Given the description of an element on the screen output the (x, y) to click on. 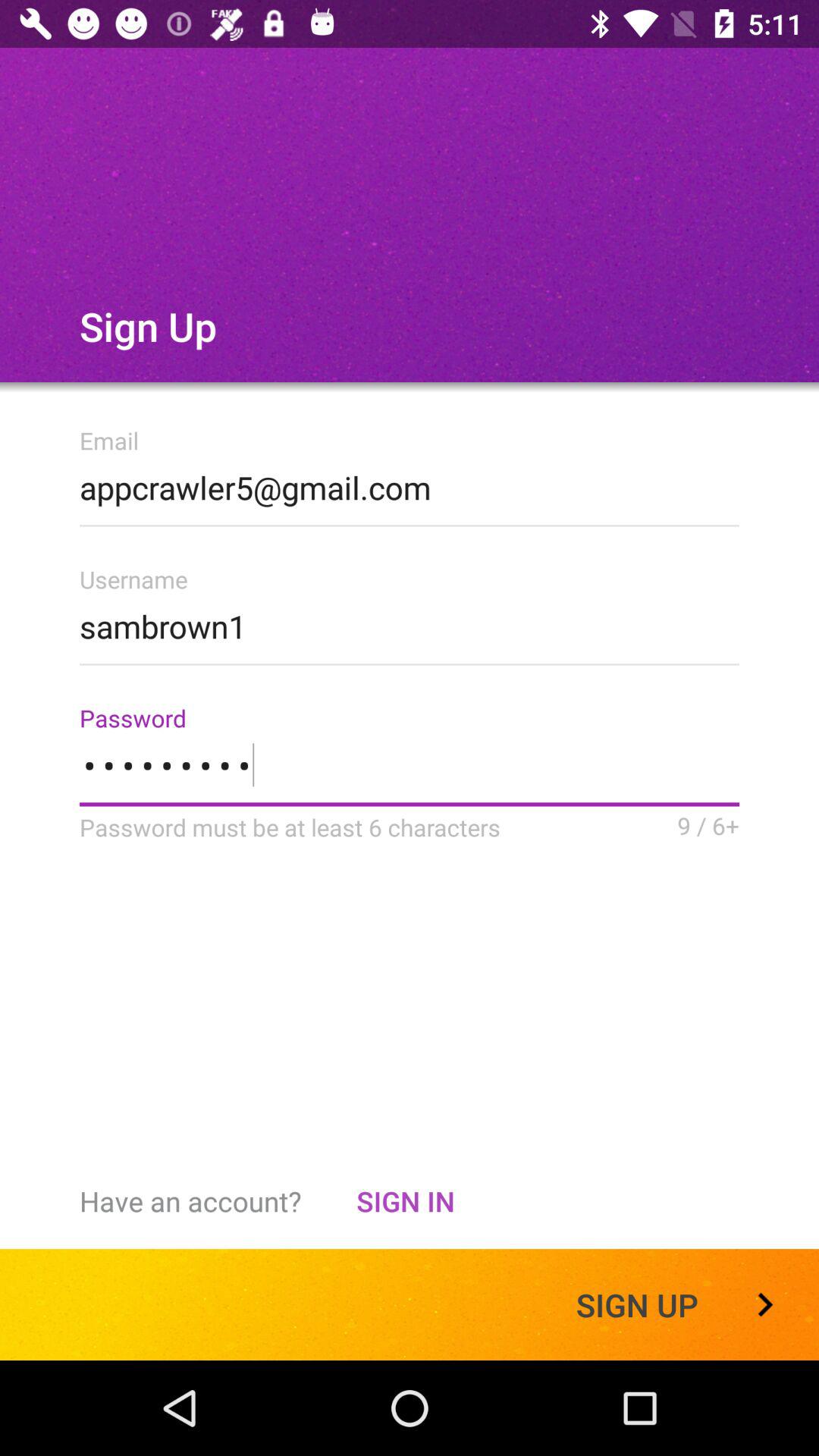
click crowd3116 icon (409, 774)
